Given the description of an element on the screen output the (x, y) to click on. 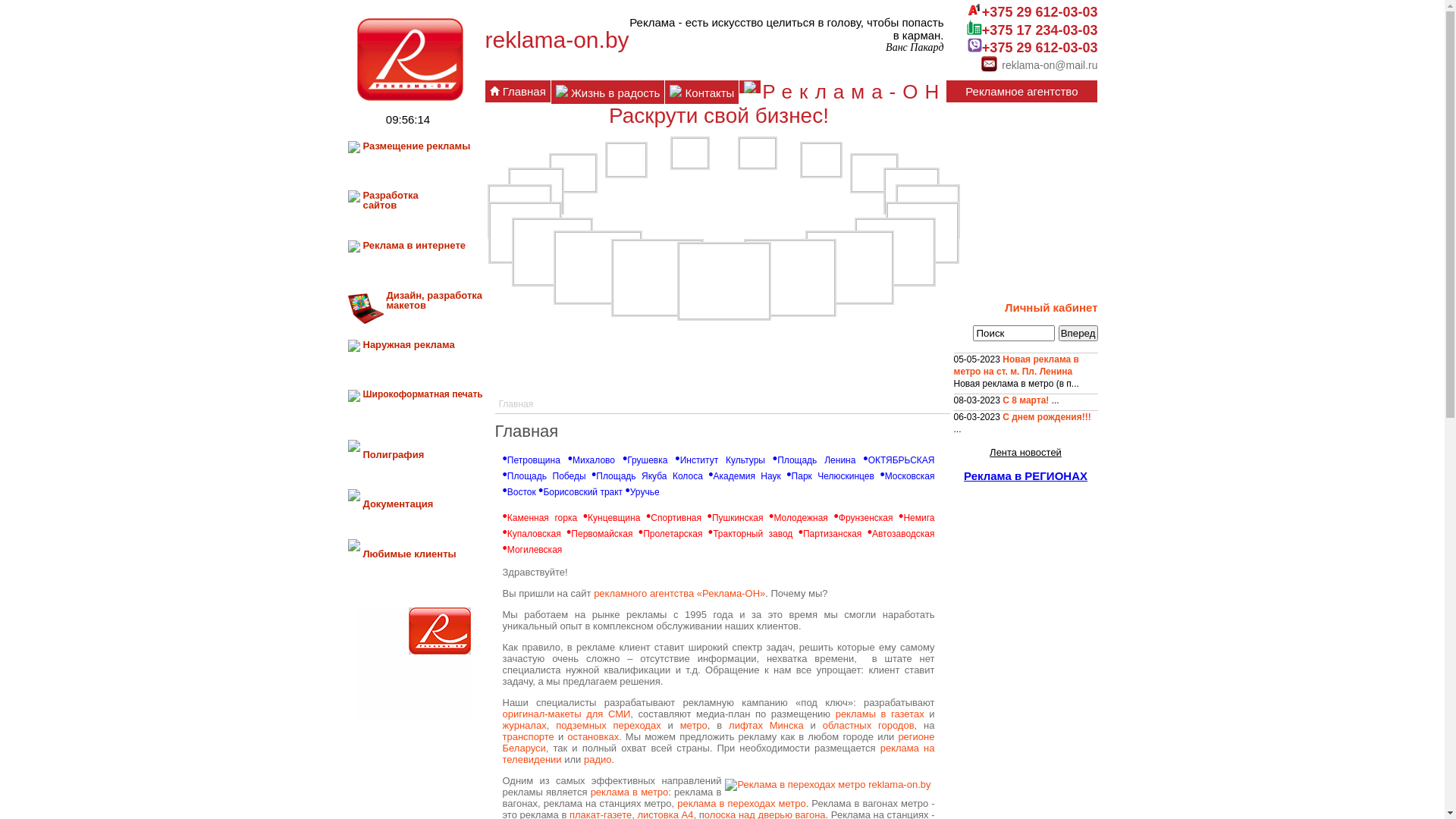
reklama-on.by Element type: hover (413, 664)
